Given the description of an element on the screen output the (x, y) to click on. 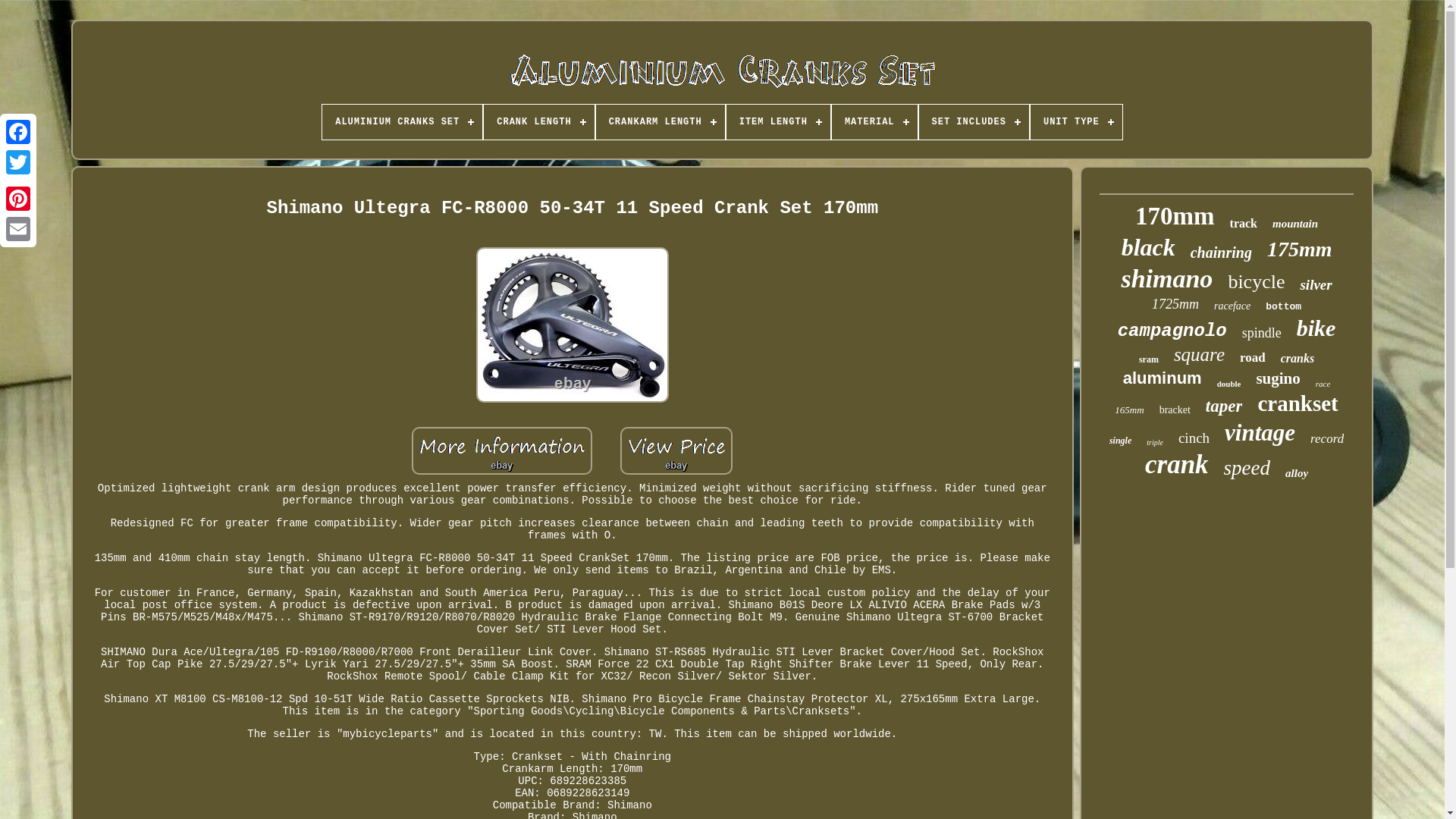
ITEM LENGTH (777, 121)
Shimano Ultegra FC-R8000 50-34T 11 Speed Crank Set 170mm (572, 324)
Shimano Ultegra FC-R8000 50-34T 11 Speed Crank Set 170mm (502, 450)
ALUMINIUM CRANKS SET (401, 121)
CRANKARM LENGTH (660, 121)
CRANK LENGTH (538, 121)
Shimano Ultegra FC-R8000 50-34T 11 Speed Crank Set 170mm (676, 450)
